Given the description of an element on the screen output the (x, y) to click on. 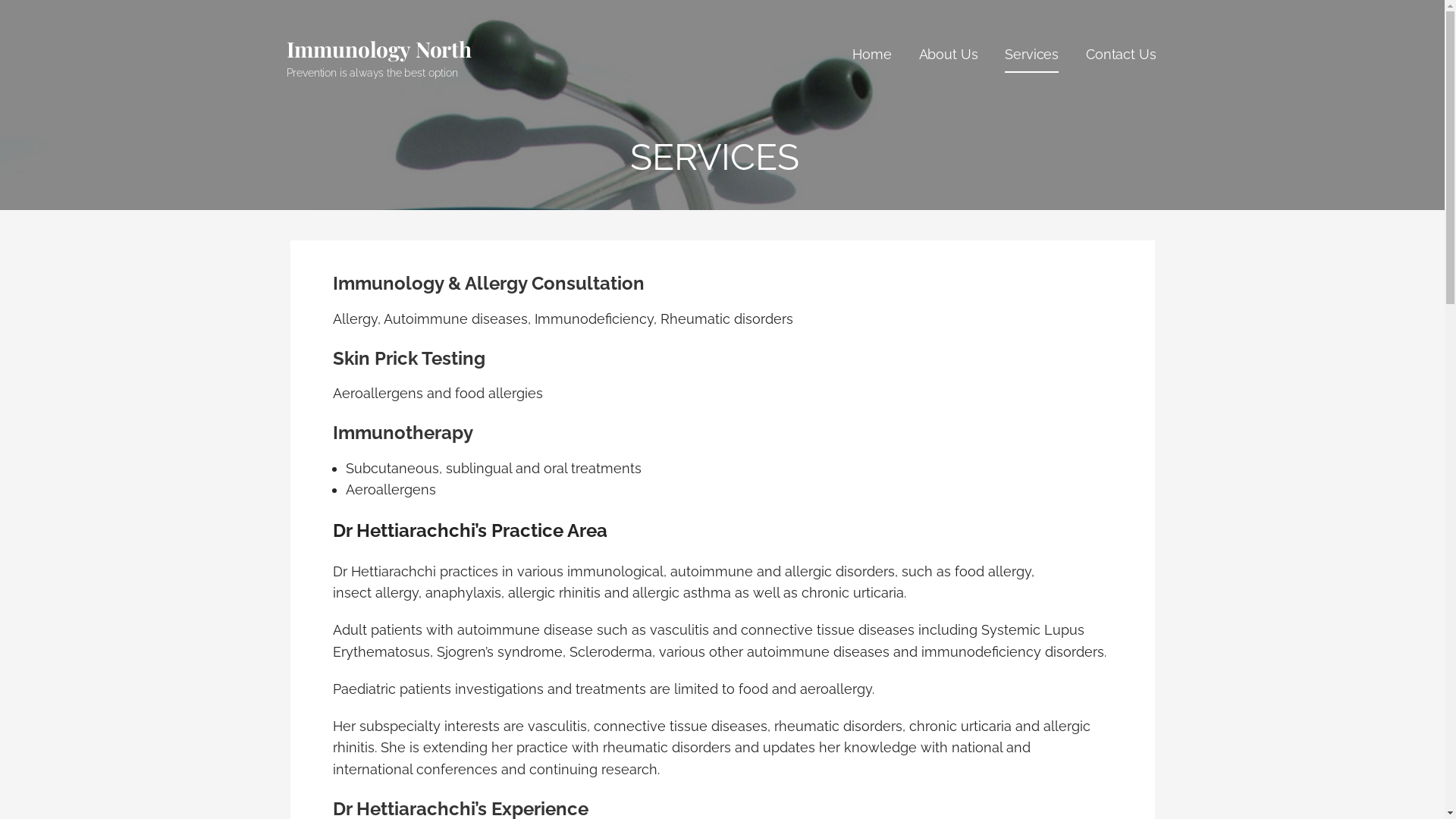
Services Element type: text (1031, 55)
Contact Us Element type: text (1120, 55)
Home Element type: text (871, 55)
About Us Element type: text (948, 55)
Immunology North Element type: text (378, 48)
